Given the description of an element on the screen output the (x, y) to click on. 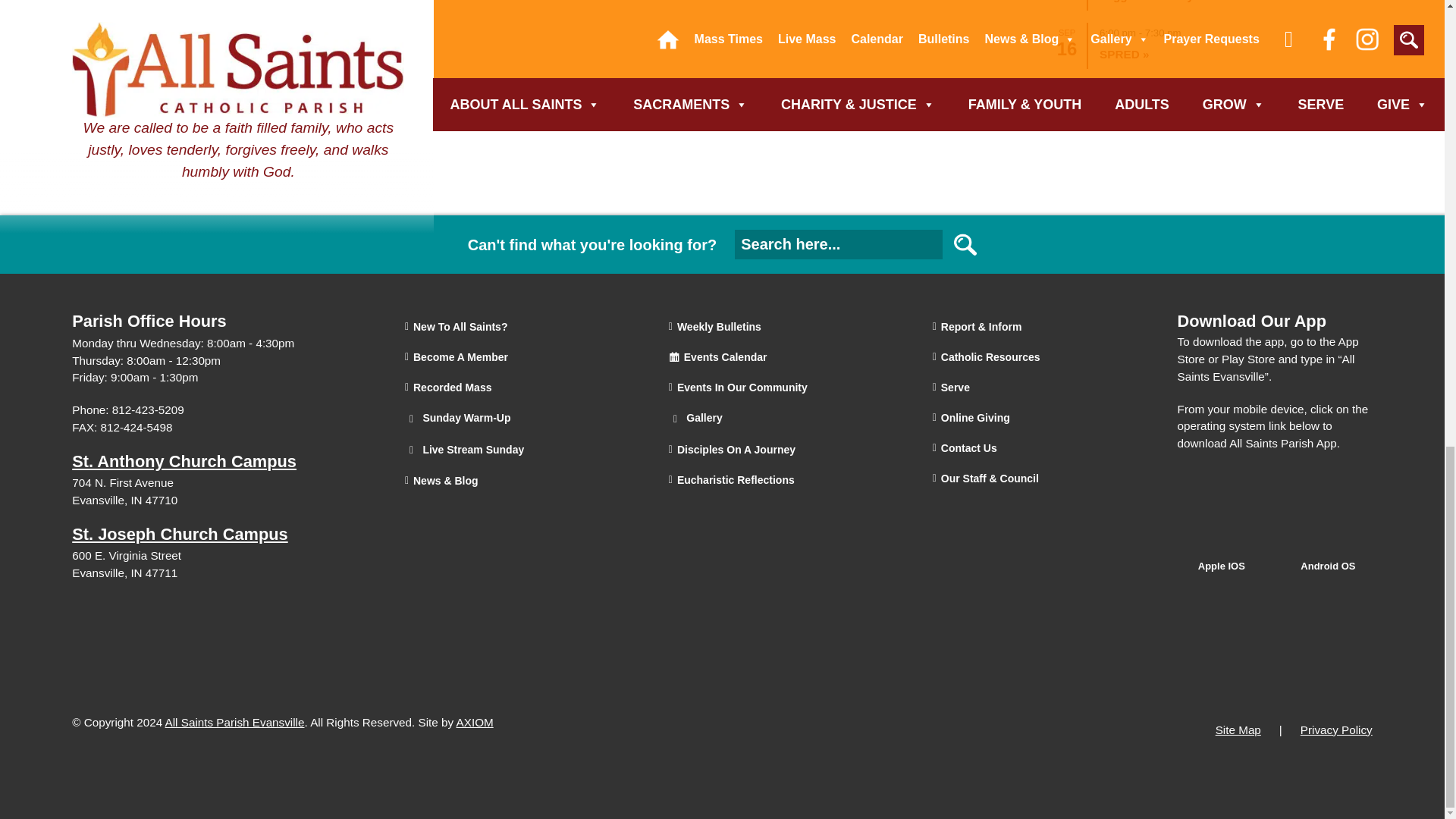
All Saints App for Android (1328, 550)
All Saints App for Apple (1221, 550)
Veggie Giveaway Dates (1168, 1)
View more events. (1209, 101)
SPRED (1123, 53)
